Given the description of an element on the screen output the (x, y) to click on. 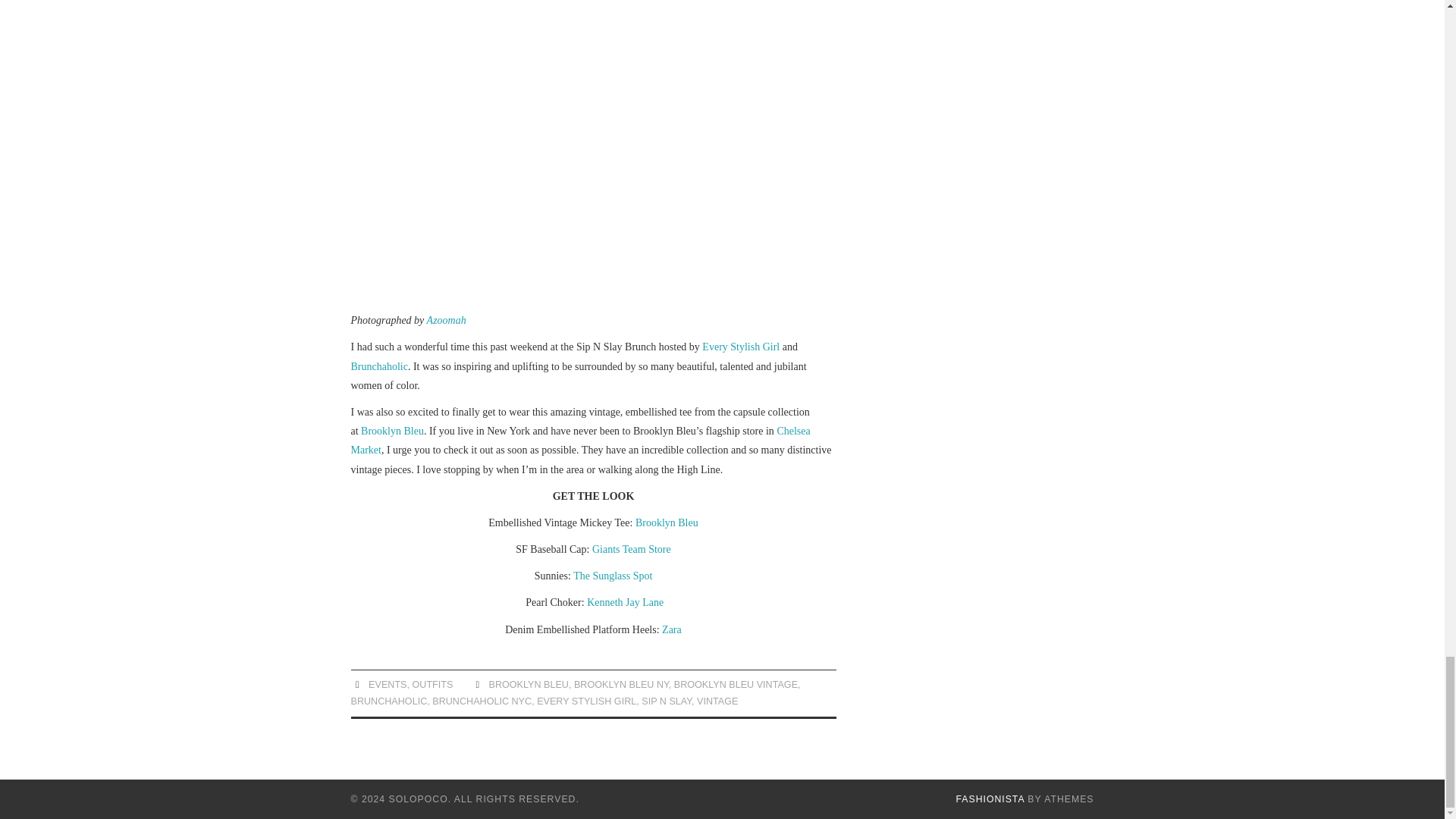
Every Stylish Girl (739, 346)
BROOKLYN BLEU (527, 684)
SIP N SLAY (666, 701)
Chelsea Market (579, 440)
The Sunglass Spot (612, 575)
EVENTS (387, 684)
Zara (671, 629)
EVERY STYLISH GIRL (586, 701)
BRUNCHAHOLIC NYC (481, 701)
BROOKLYN BLEU NY (620, 684)
